Given the description of an element on the screen output the (x, y) to click on. 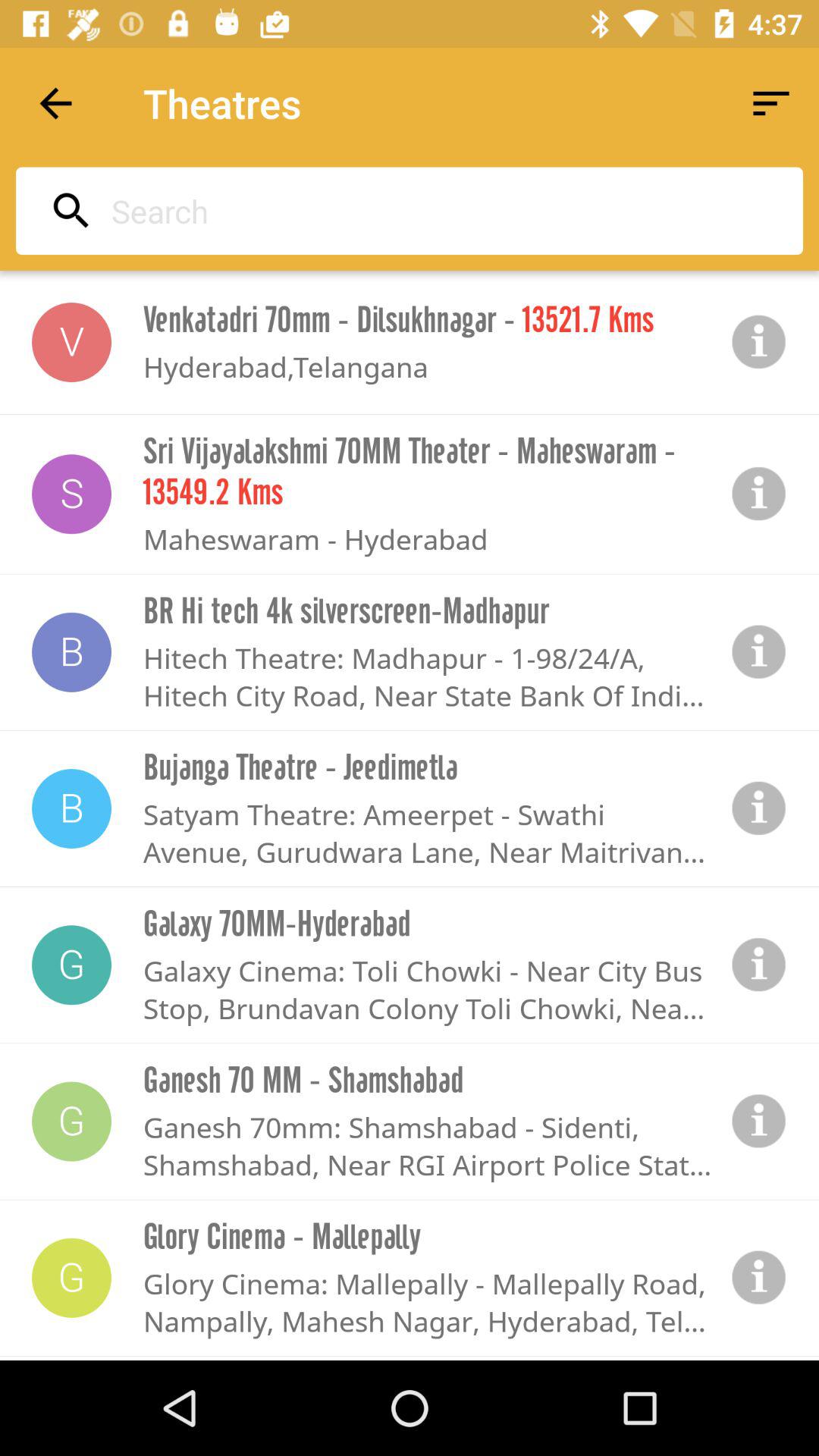
information icon it will show additional information or how to share (759, 494)
